Given the description of an element on the screen output the (x, y) to click on. 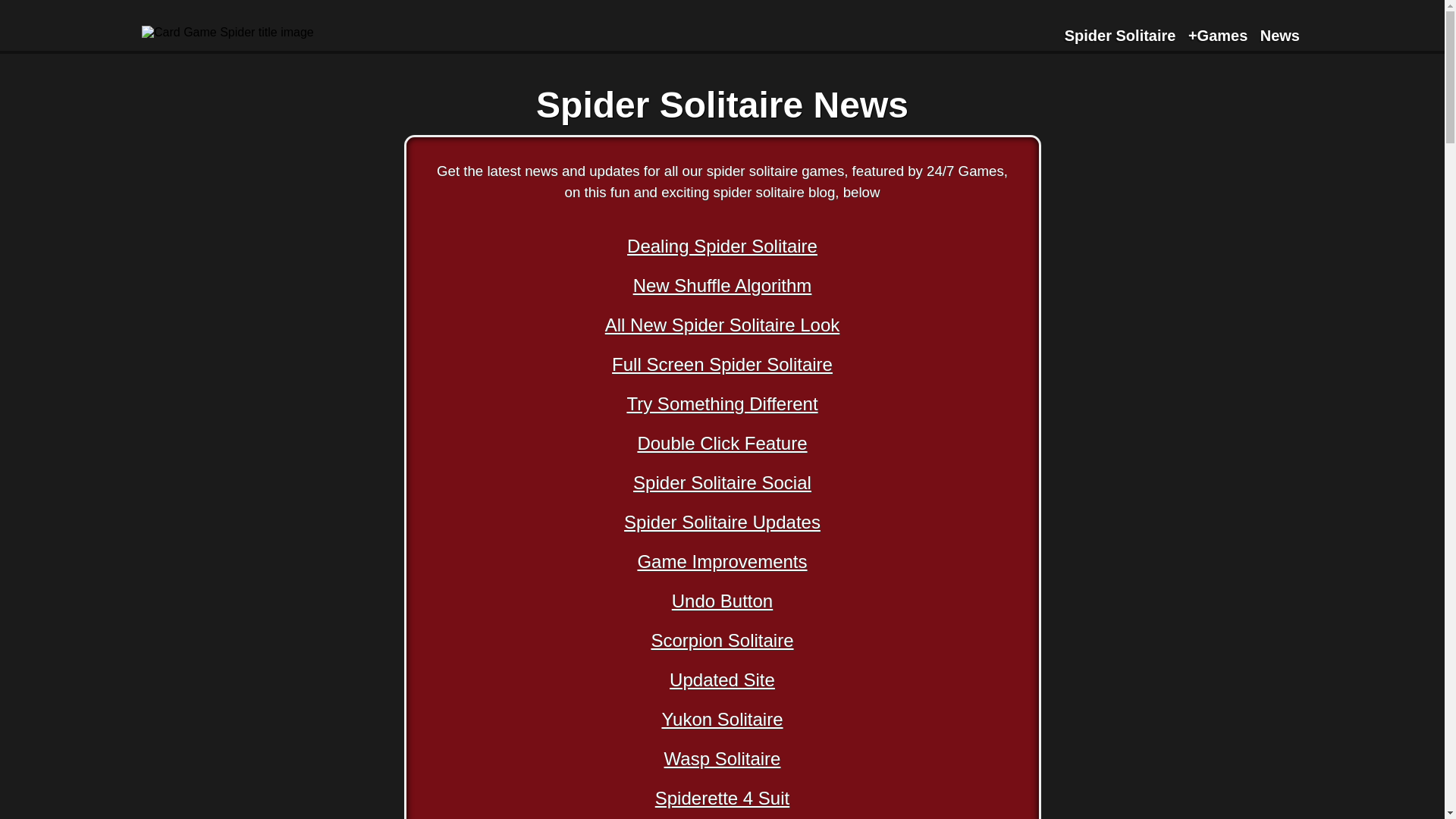
Spider Solitaire (1120, 36)
Spiderette 4 Suit (722, 799)
Spider Solitaire Social (721, 484)
Game Improvements (721, 563)
Scorpion Solitaire (721, 642)
New Shuffle Algorithm (722, 287)
Spider Solitaire Updates (722, 523)
Yukon Solitaire (722, 721)
News (1280, 36)
Wasp Solitaire (721, 760)
